Given the description of an element on the screen output the (x, y) to click on. 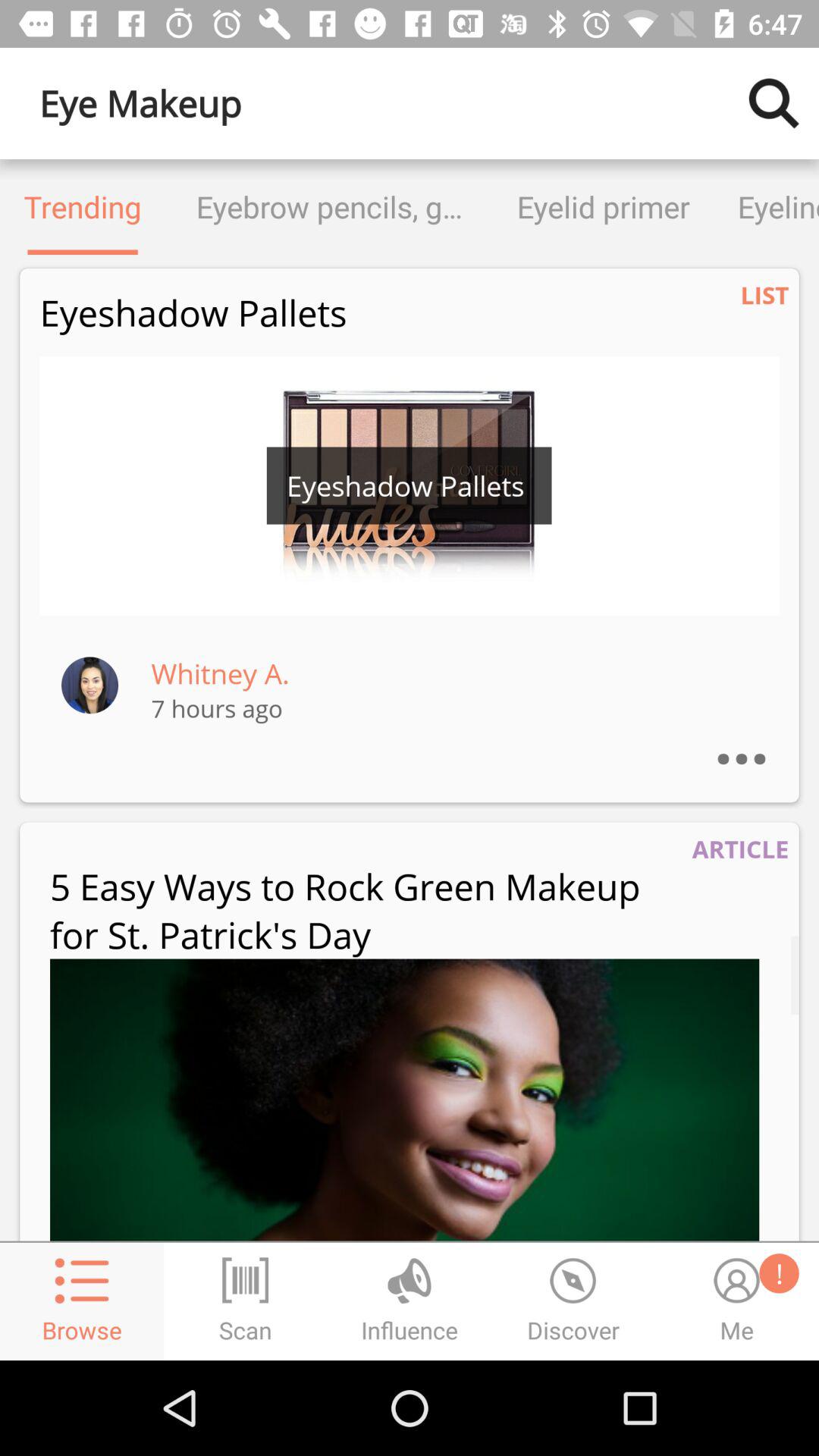
tap eyebrow pencils gels (329, 206)
